Given the description of an element on the screen output the (x, y) to click on. 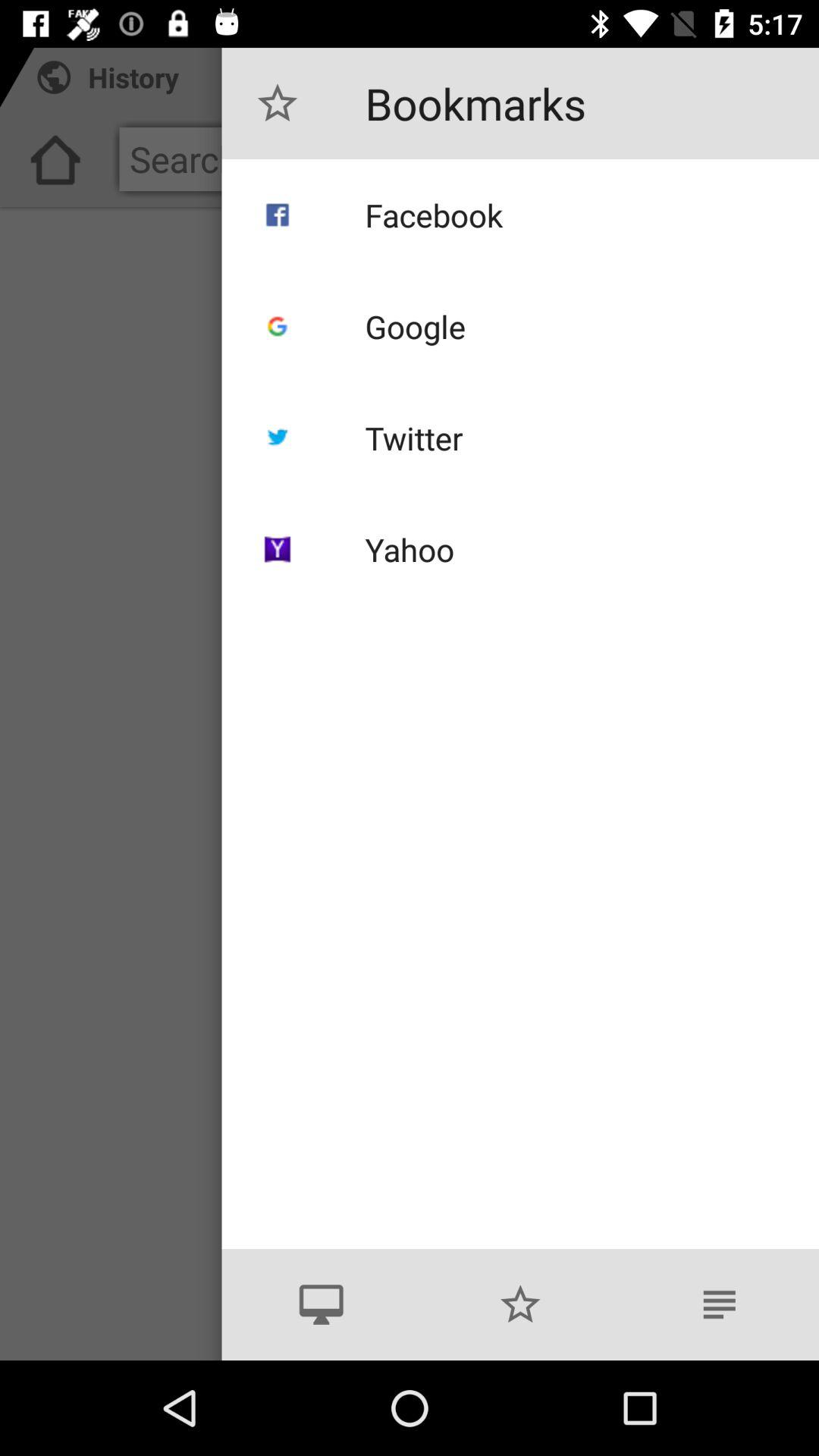
click on icon beside yahoo (277, 549)
select menu which is bottom right corner of the page (719, 1304)
select home icon which is on the top left corner of page (55, 164)
